Given the description of an element on the screen output the (x, y) to click on. 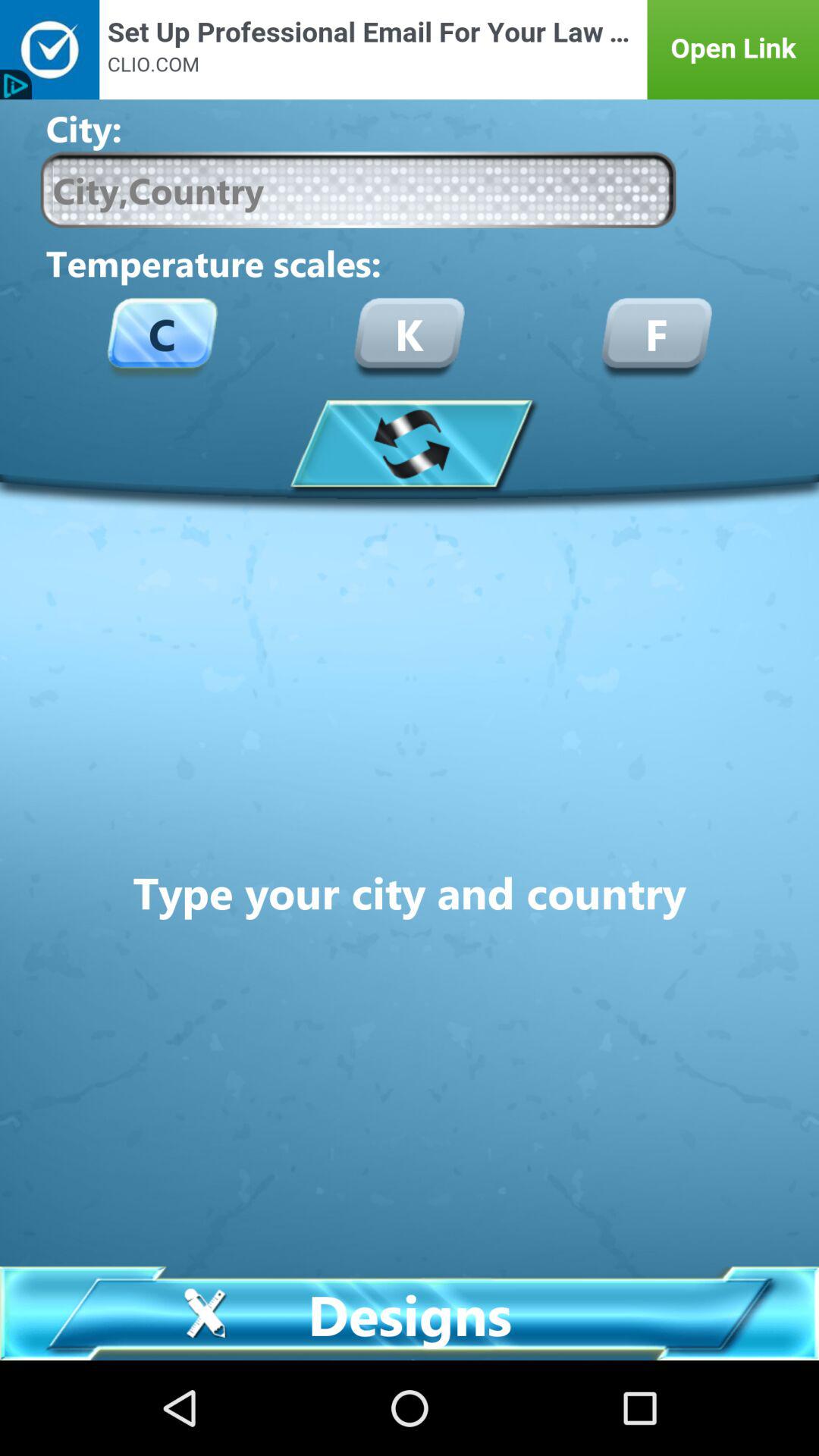
type to city option (357, 189)
